Given the description of an element on the screen output the (x, y) to click on. 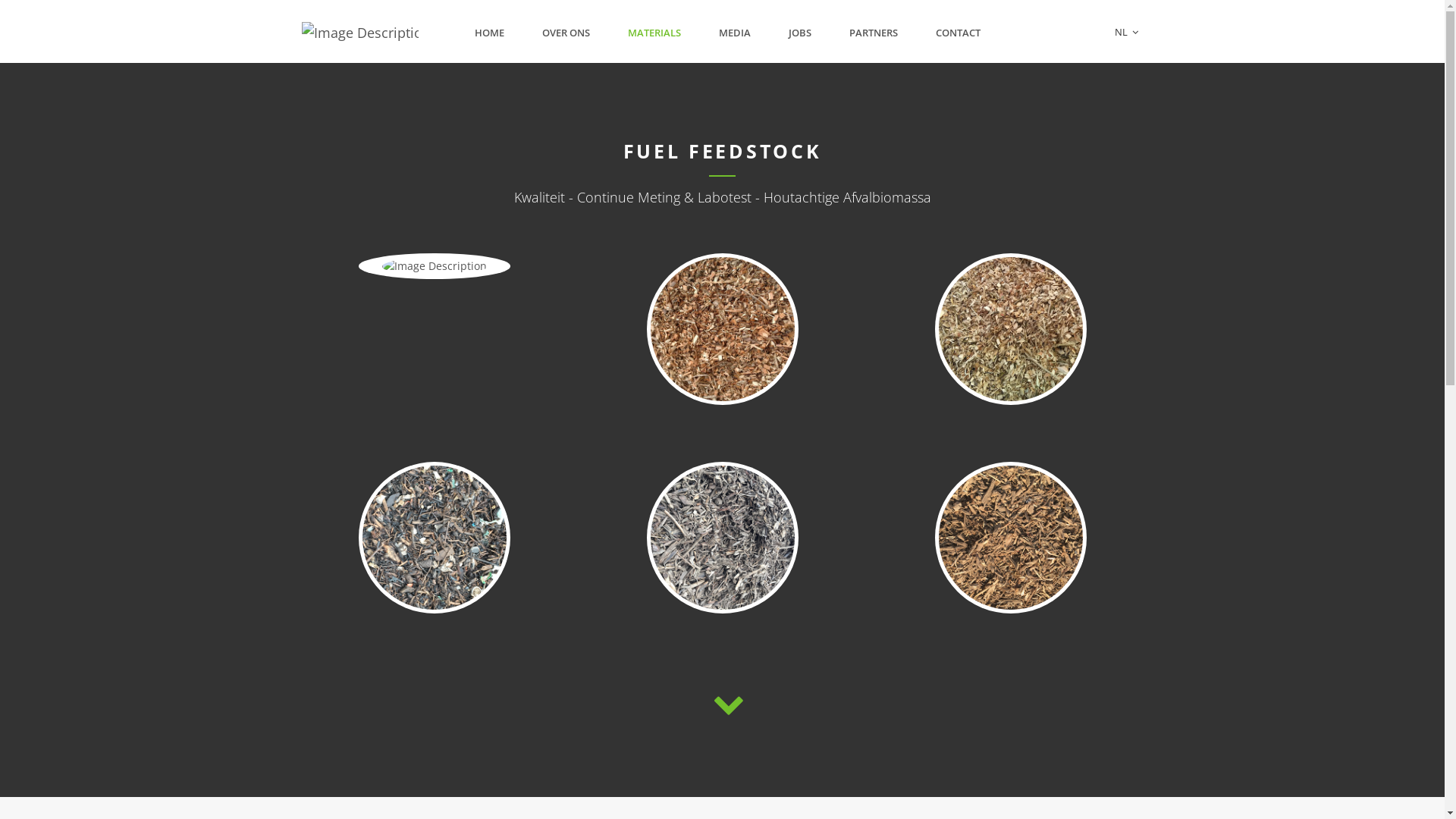
PARTNERS Element type: text (873, 33)
CONTACT Element type: text (957, 33)
MEDIA Element type: text (734, 33)
MATERIALS Element type: text (653, 33)
HOME
(CURRENT) Element type: text (489, 33)
OVER ONS Element type: text (565, 33)
JOBS Element type: text (799, 33)
NL  Element type: text (1126, 31)
